Given the description of an element on the screen output the (x, y) to click on. 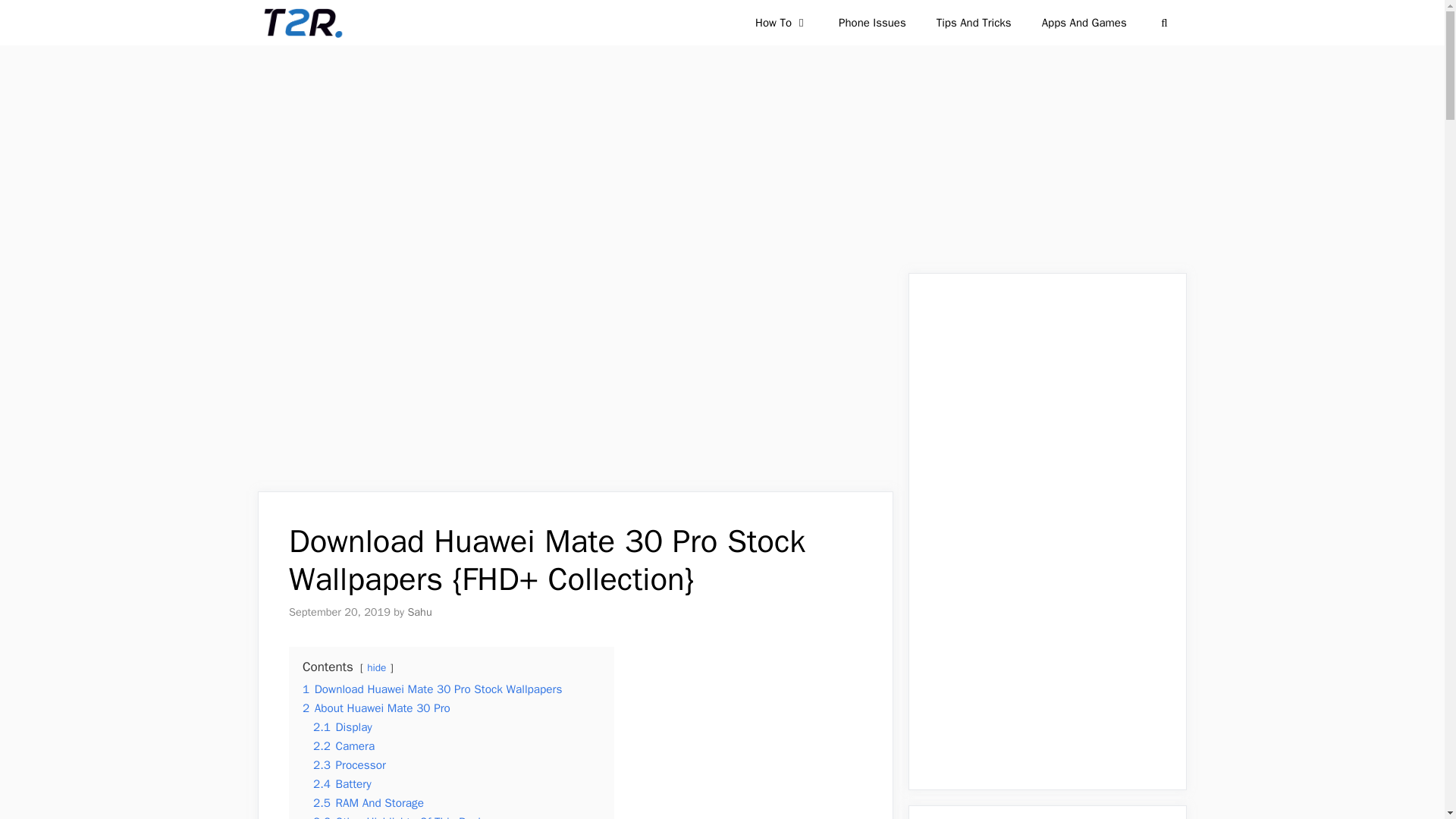
2.4 Battery (342, 783)
2.5 RAM And Storage (368, 802)
2.3 Processor (349, 765)
2.2 Camera (343, 745)
Tech2Rise (301, 22)
Apps And Games (1083, 22)
Tips And Tricks (973, 22)
View all posts by Sahu (418, 612)
How To (781, 22)
1 Download Huawei Mate 30 Pro Stock Wallpapers (432, 688)
